Given the description of an element on the screen output the (x, y) to click on. 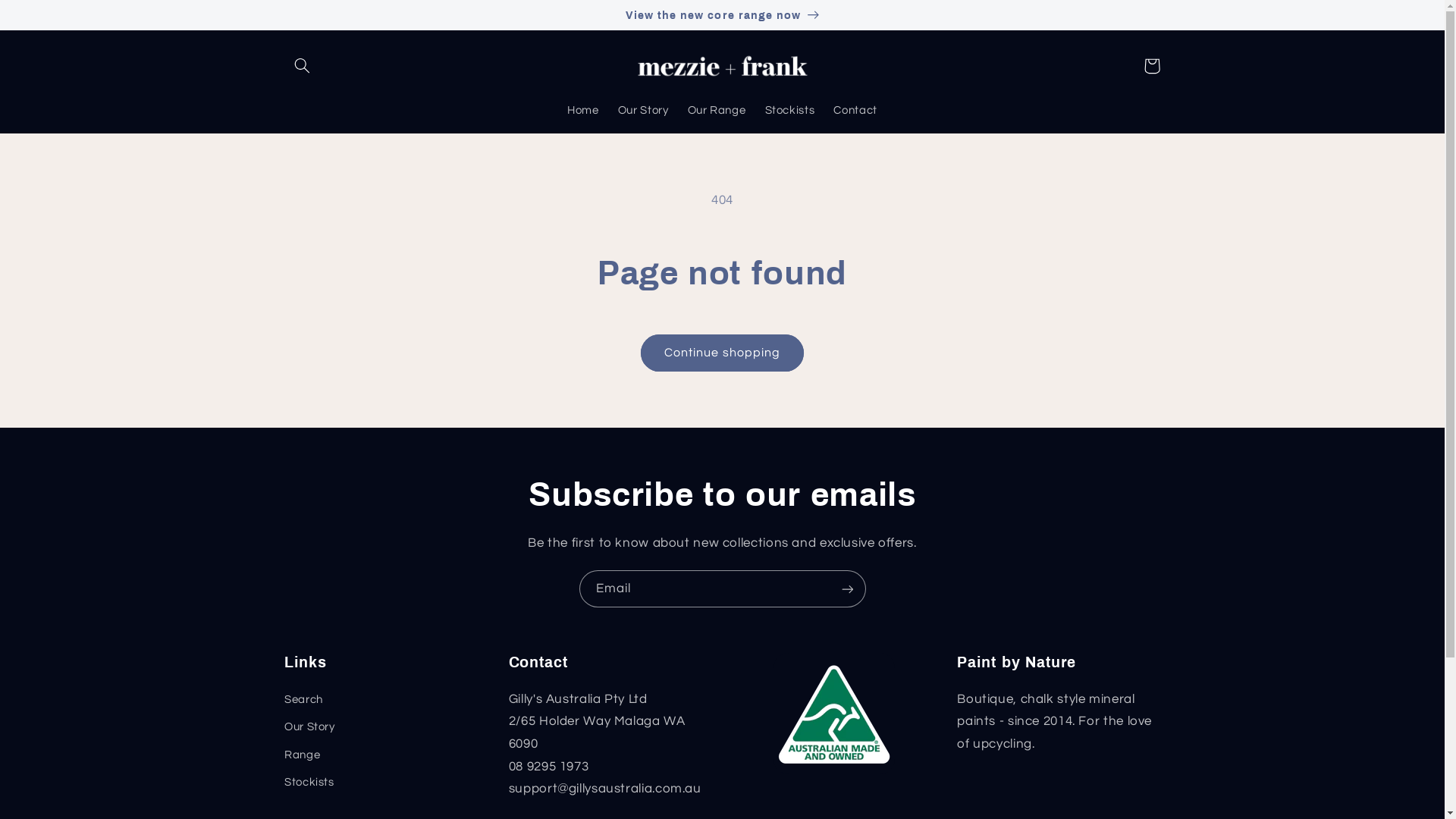
Stockists Element type: text (789, 110)
Search Element type: text (303, 701)
Our Story Element type: text (309, 726)
Home Element type: text (583, 110)
Our Story Element type: text (642, 110)
Contact Element type: text (855, 110)
Stockists Element type: text (309, 782)
Cart Element type: text (1151, 65)
Continue shopping Element type: text (722, 352)
Our Range Element type: text (716, 110)
Range Element type: text (302, 754)
View the new core range now Element type: text (722, 14)
